Given the description of an element on the screen output the (x, y) to click on. 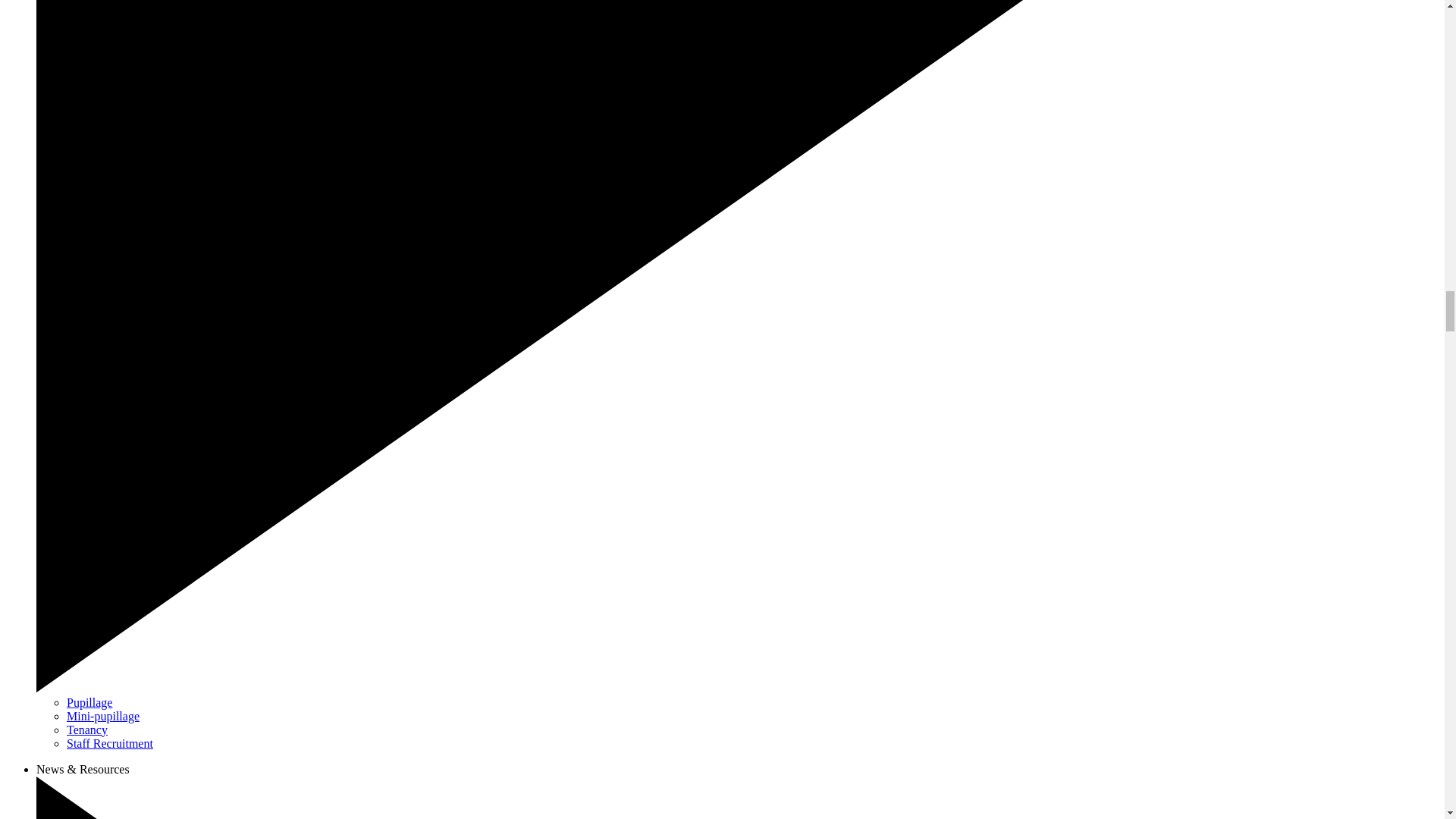
Tenancy (86, 729)
Pupillage (89, 702)
Staff Recruitment (109, 743)
Mini-pupillage (102, 716)
